Given the description of an element on the screen output the (x, y) to click on. 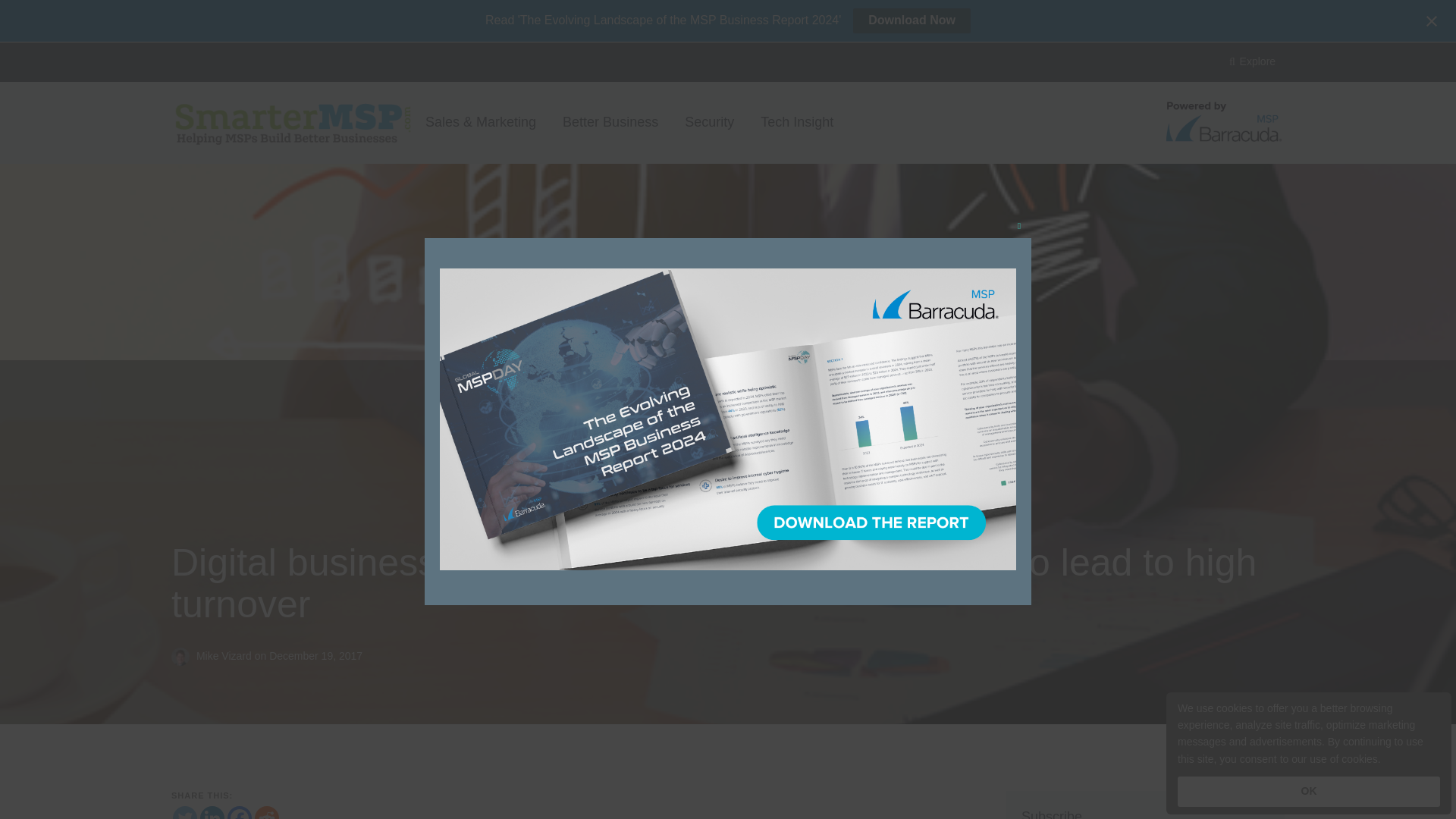
Download Now (912, 20)
